Given the description of an element on the screen output the (x, y) to click on. 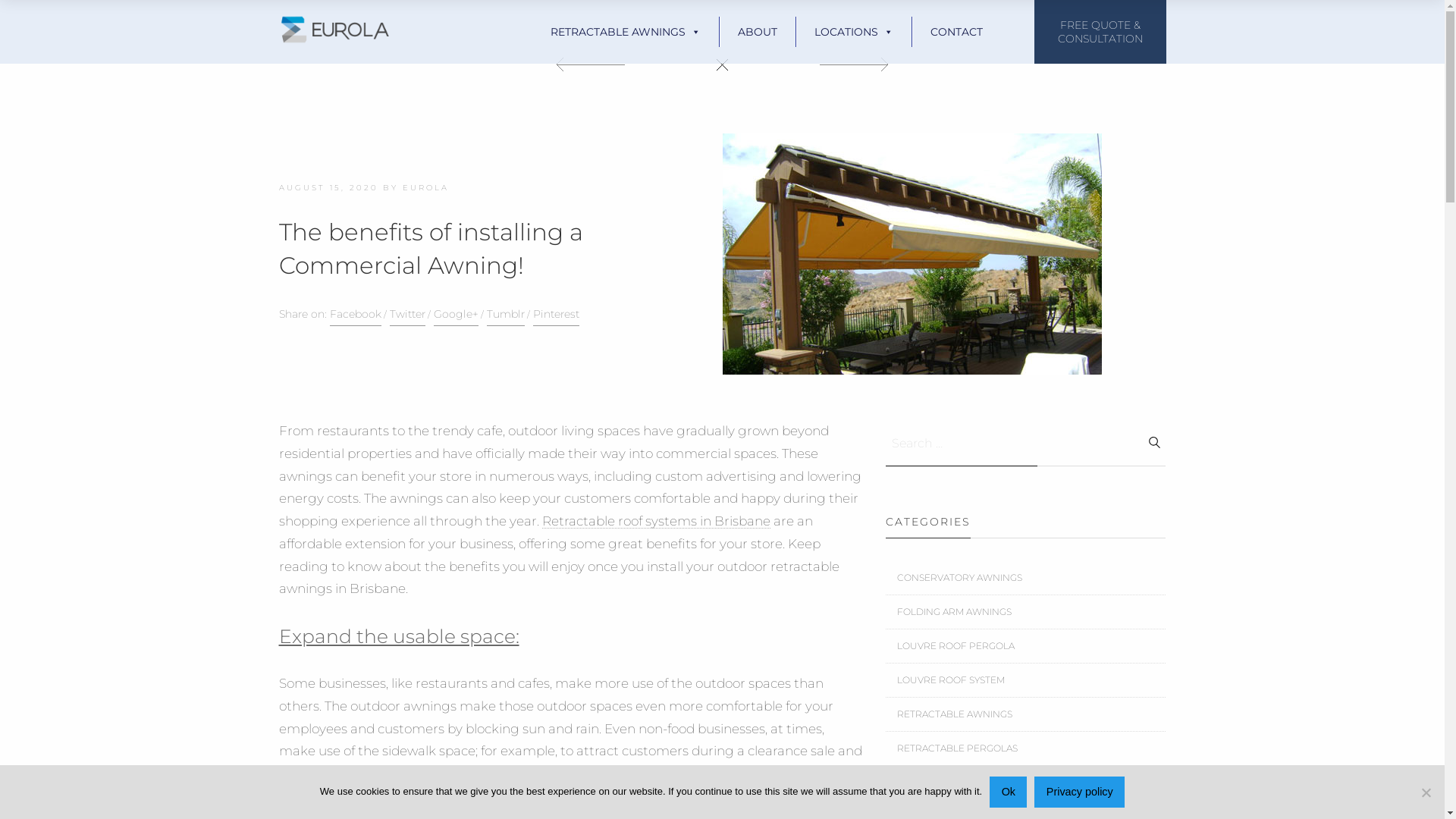
EUROLA Element type: text (424, 187)
ABOUT Element type: text (757, 31)
Ok Element type: text (1007, 791)
RETRACTABLE PERGOLAS Element type: text (956, 747)
CONSERVATORY AWNINGS Element type: text (958, 577)
RETRACTABLE AWNINGS Element type: text (625, 31)
FOLDING ARM AWNINGS Element type: text (953, 611)
Google+ Element type: text (455, 315)
LOCATIONS Element type: text (853, 31)
RETRACTABLE AWNINGS Element type: text (953, 713)
AUGUST 15, 2020 Element type: text (328, 187)
Retractable roof systems in Brisbane Element type: text (655, 520)
Facebook Element type: text (354, 315)
outdoor retractable awnings in Brisbane. Element type: text (559, 577)
Tumblr Element type: text (505, 315)
RETRACTABLE ROOF Element type: text (945, 781)
CONTACT Element type: text (956, 31)
How Retractable Awnings Improve Your Lifestyle Element type: hover (911, 253)
LOUVRE ROOF PERGOLA Element type: text (954, 645)
LOUVRE ROOF SYSTEM Element type: text (950, 679)
No Element type: hover (1425, 792)
FREE QUOTE & CONSULTATION Element type: text (1100, 31)
Eurola Retractable Weather Smart Systems Element type: hover (335, 29)
Pinterest Element type: text (555, 315)
Twitter Element type: text (407, 315)
Privacy policy Element type: text (1079, 791)
